Given the description of an element on the screen output the (x, y) to click on. 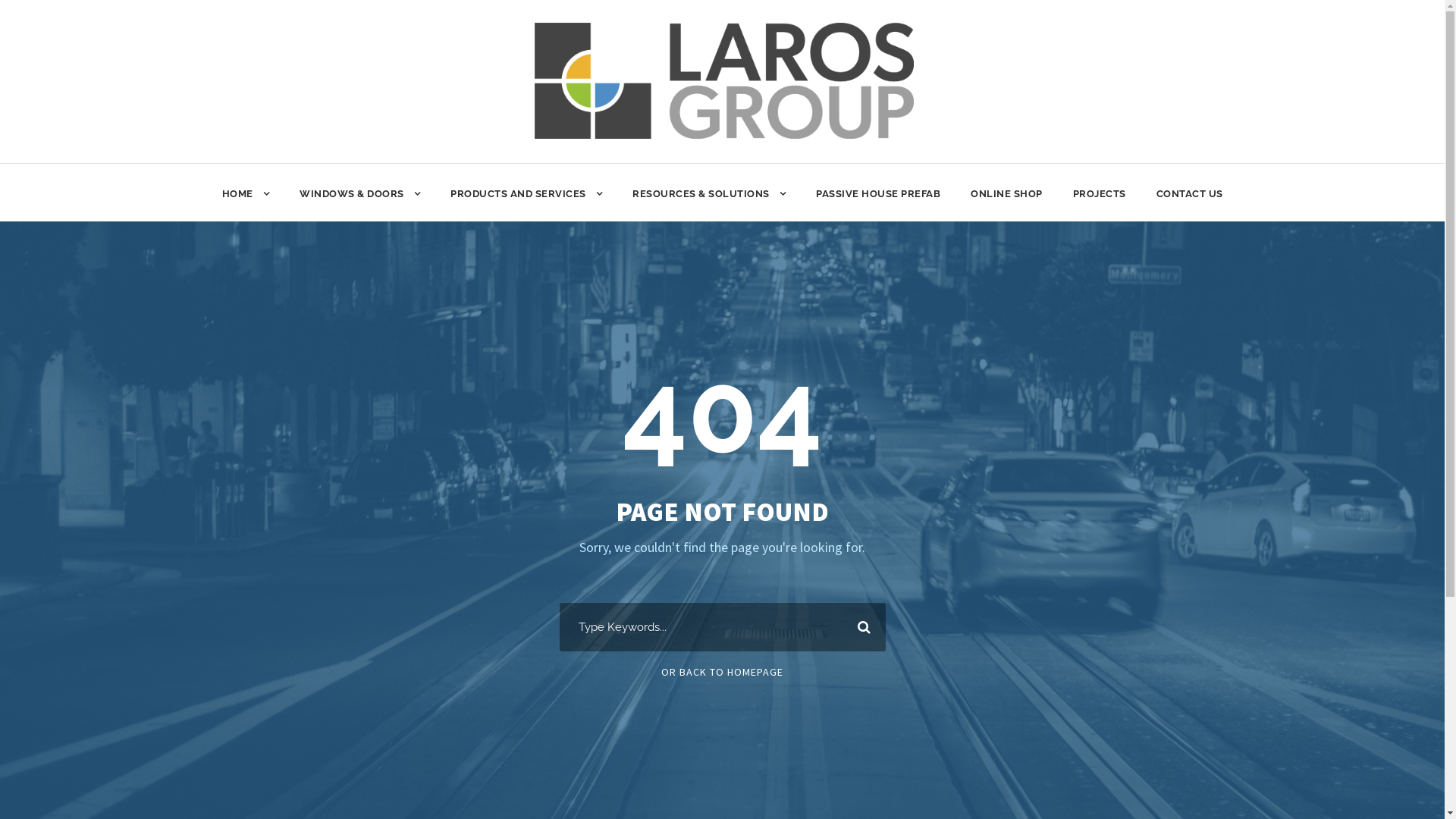
OR BACK TO HOMEPAGE Element type: text (722, 671)
ONLINE SHOP Element type: text (1006, 203)
WINDOWS & DOORS Element type: text (359, 203)
CONTACT US Element type: text (1188, 203)
PASSIVE HOUSE PREFAB Element type: text (877, 203)
HOME Element type: text (245, 203)
PROJECTS Element type: text (1098, 203)
PRODUCTS AND SERVICES Element type: text (526, 203)
Search Element type: text (860, 626)
RESOURCES & SOLUTIONS Element type: text (708, 203)
LAROSGroup_Logo_Primary_Large Element type: hover (723, 80)
